Given the description of an element on the screen output the (x, y) to click on. 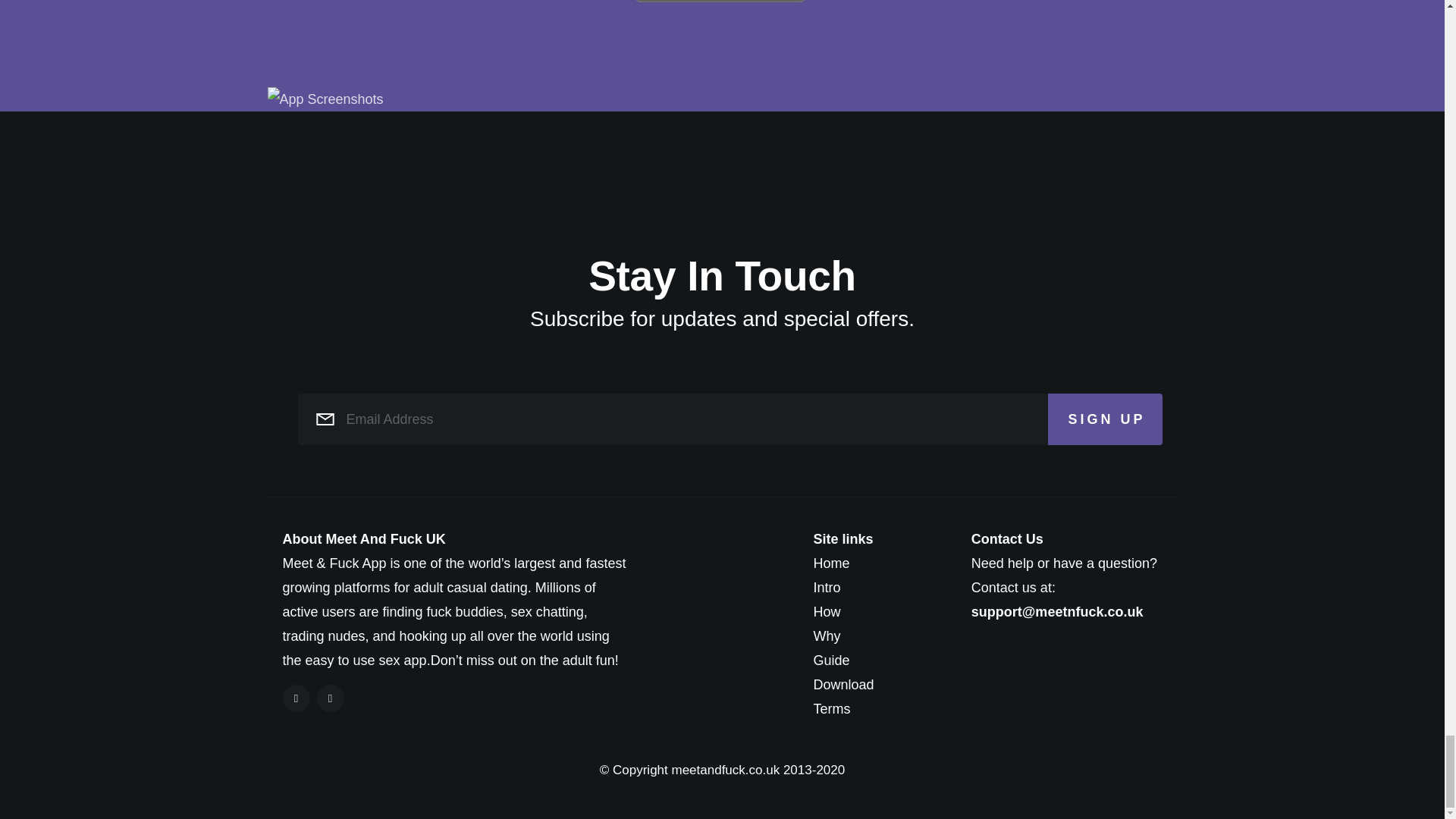
Intro (876, 587)
Signup (719, 1)
Guide (876, 660)
How (876, 611)
Signup (719, 1)
Sign Up (1104, 419)
Download (876, 684)
Home (876, 563)
Intro (876, 587)
Why (876, 636)
